Given the description of an element on the screen output the (x, y) to click on. 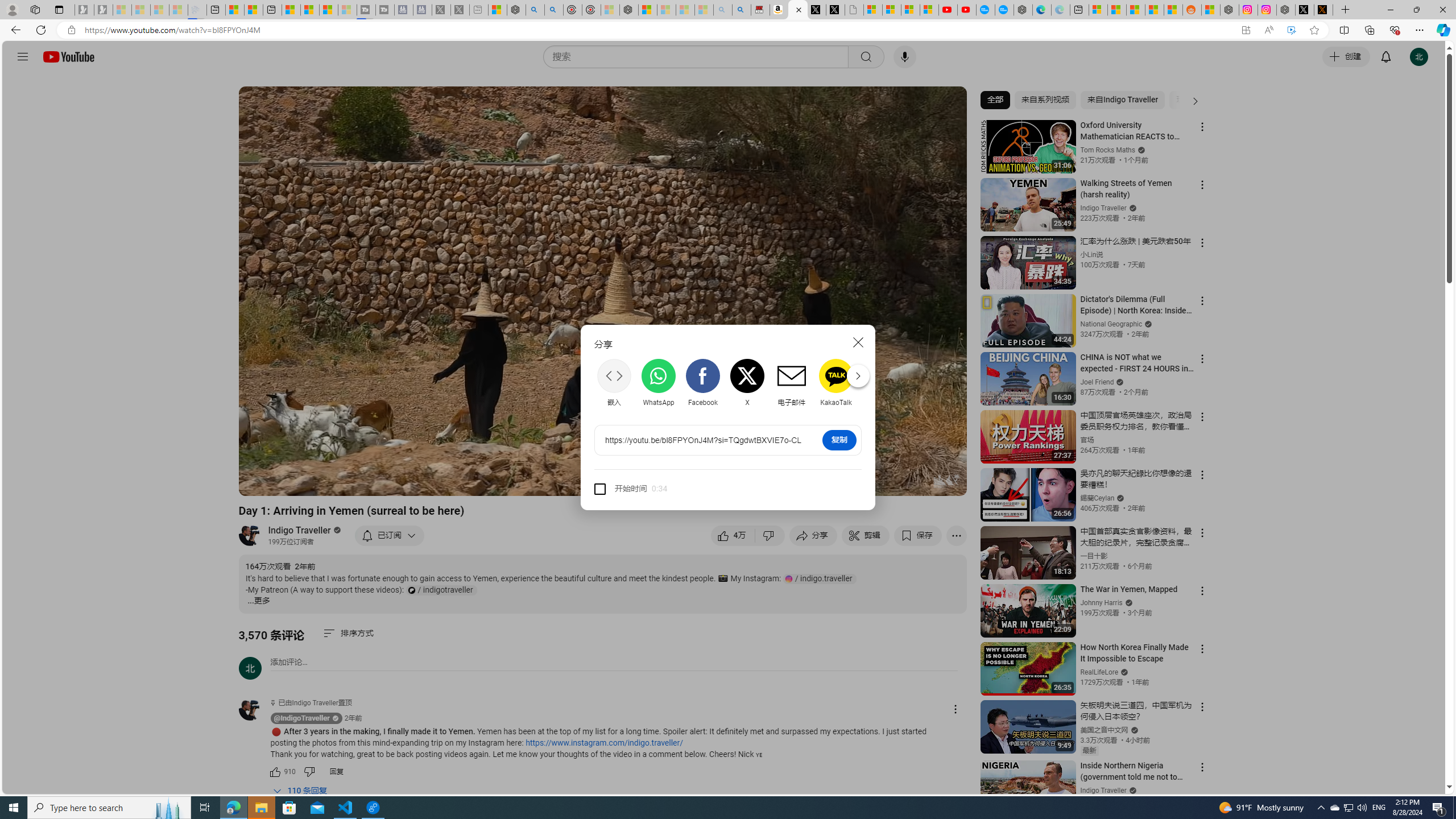
Intro (388, 482)
